Given the description of an element on the screen output the (x, y) to click on. 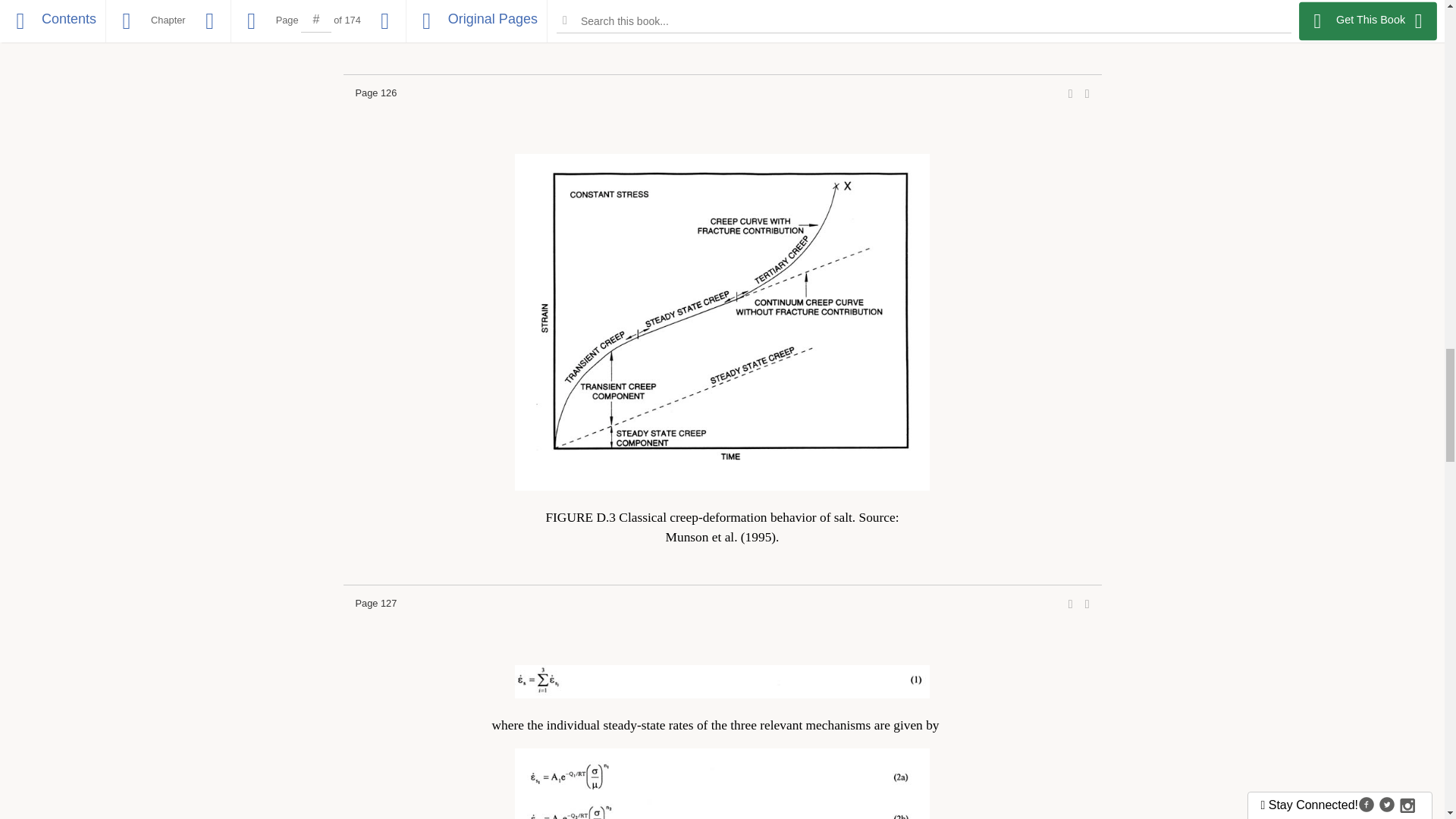
Cite this page (1086, 603)
Share this page (1070, 603)
Cite this page (1086, 93)
Share this page (1070, 93)
